Given the description of an element on the screen output the (x, y) to click on. 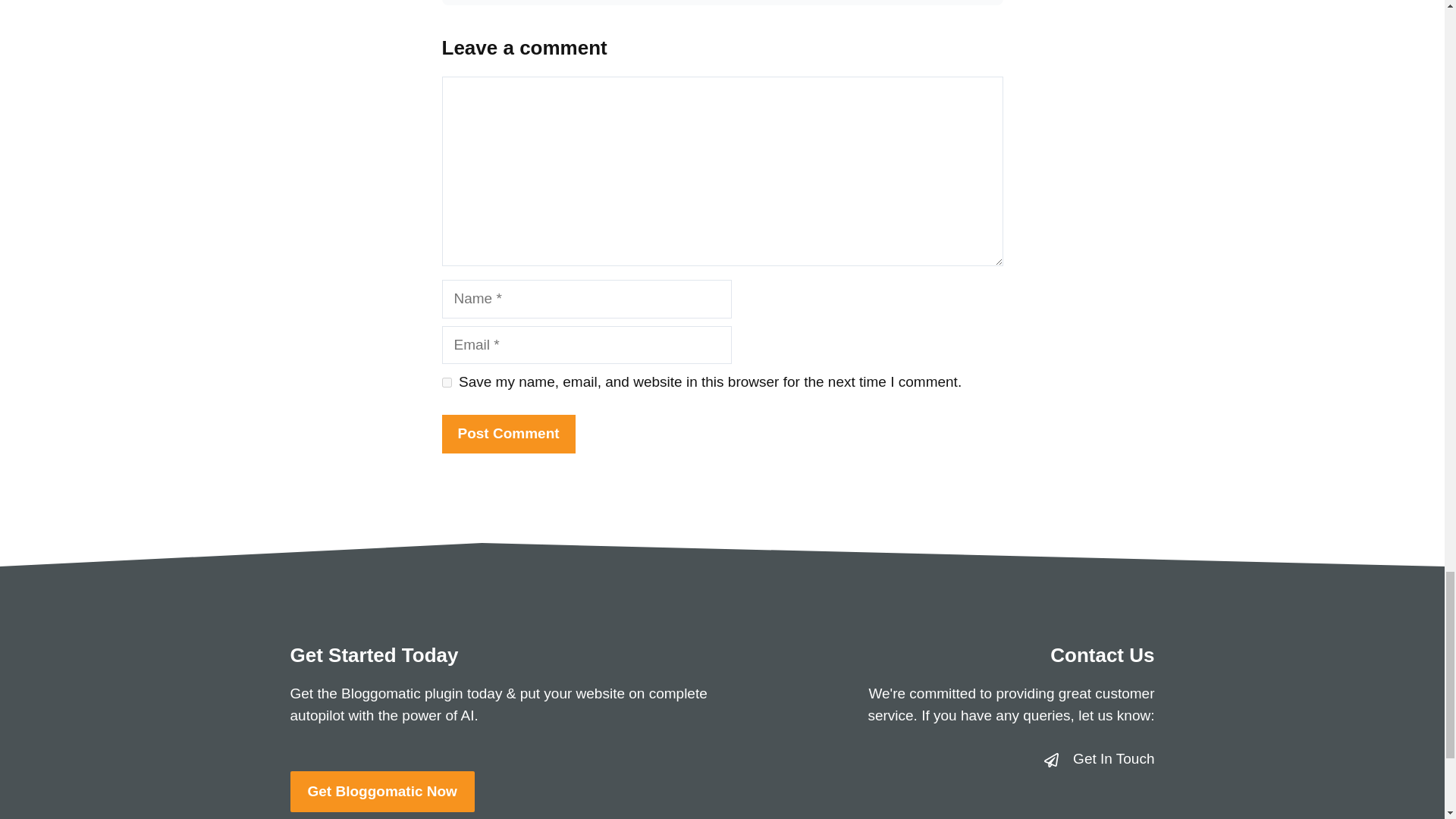
Get Bloggomatic Now (381, 792)
Get In Touch (1113, 758)
yes (446, 382)
Post Comment (508, 433)
Post Comment (508, 433)
